Given the description of an element on the screen output the (x, y) to click on. 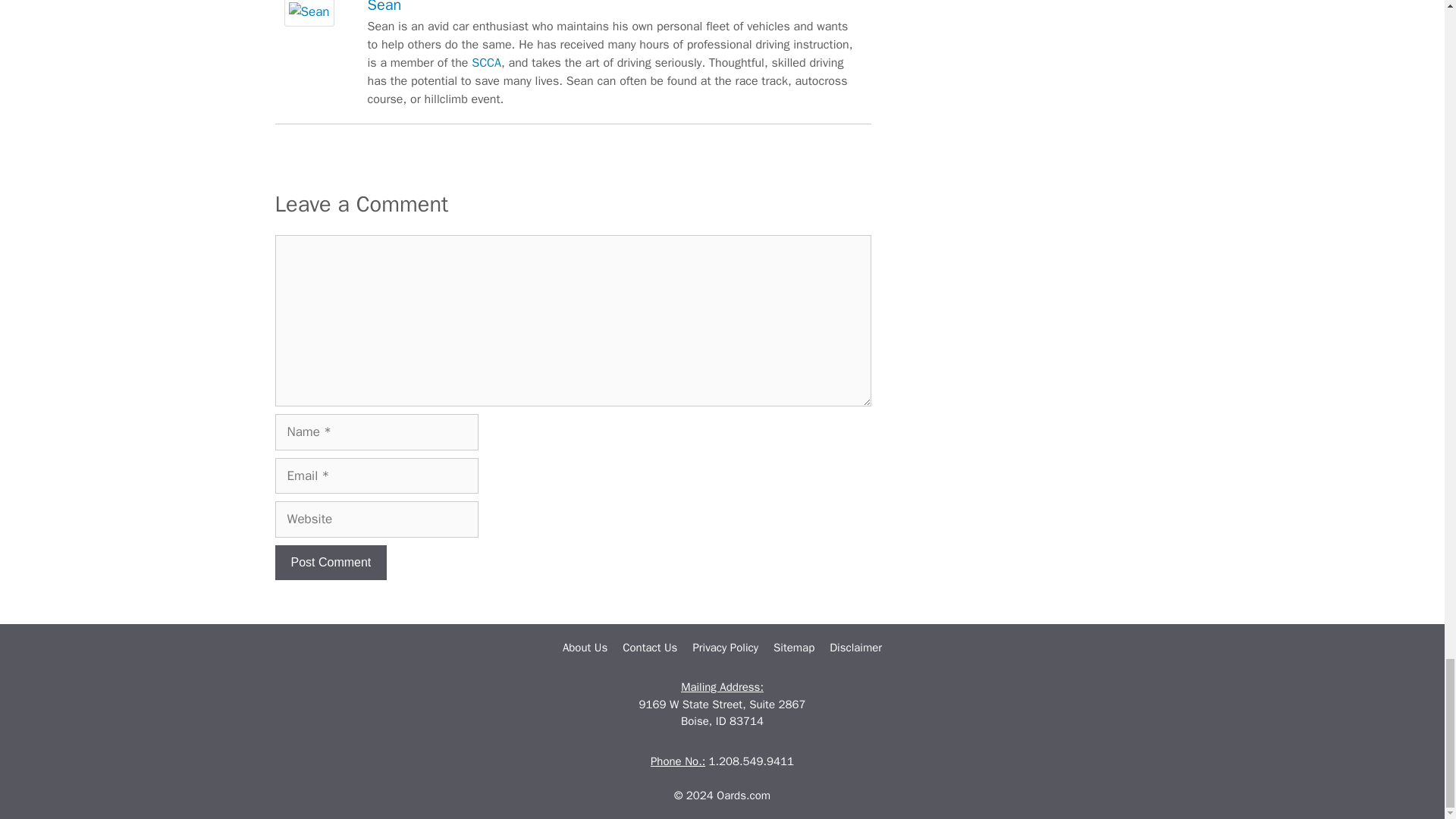
Sean (308, 22)
Post Comment (331, 562)
